Given the description of an element on the screen output the (x, y) to click on. 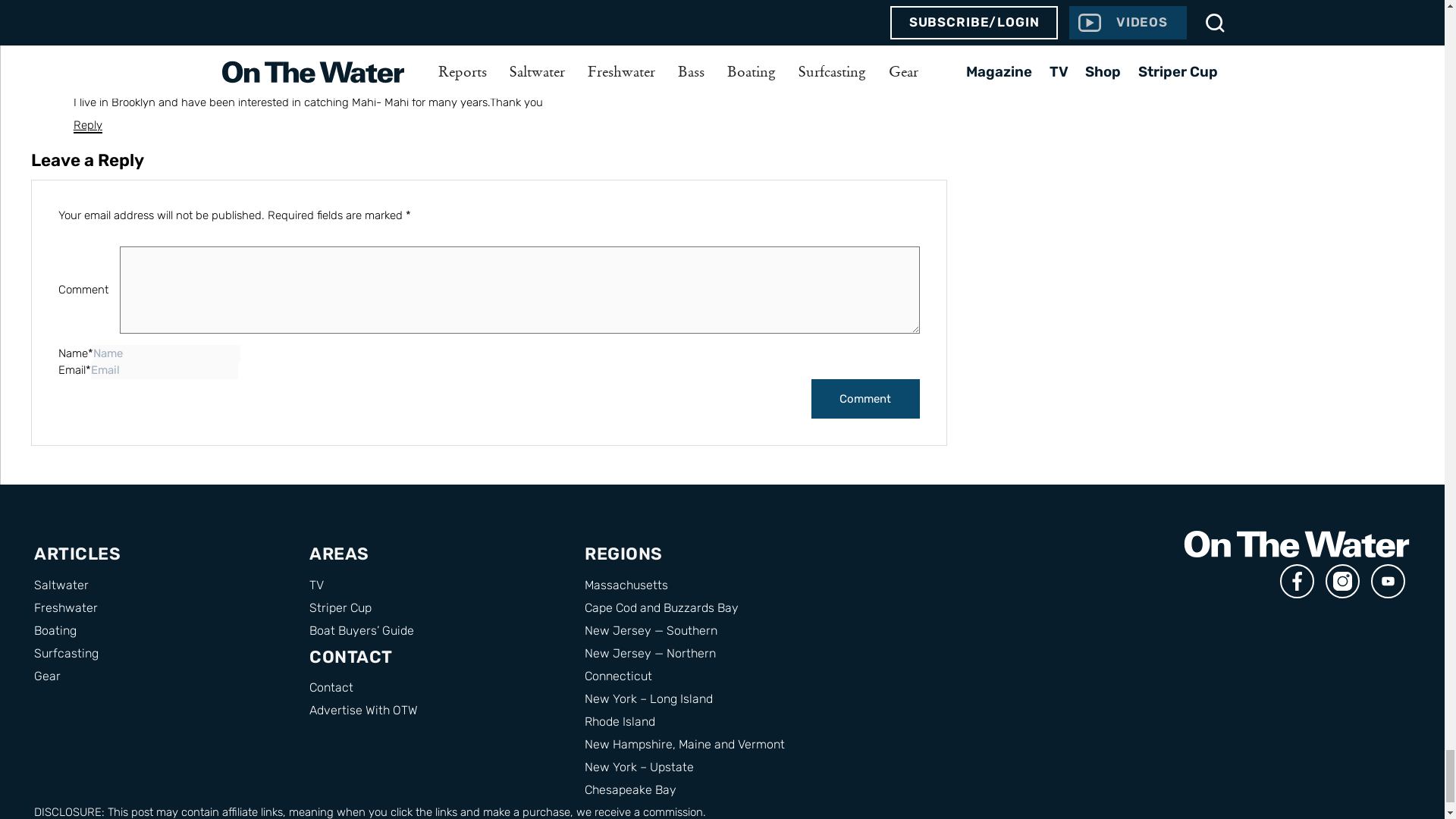
Comment (865, 399)
